Given the description of an element on the screen output the (x, y) to click on. 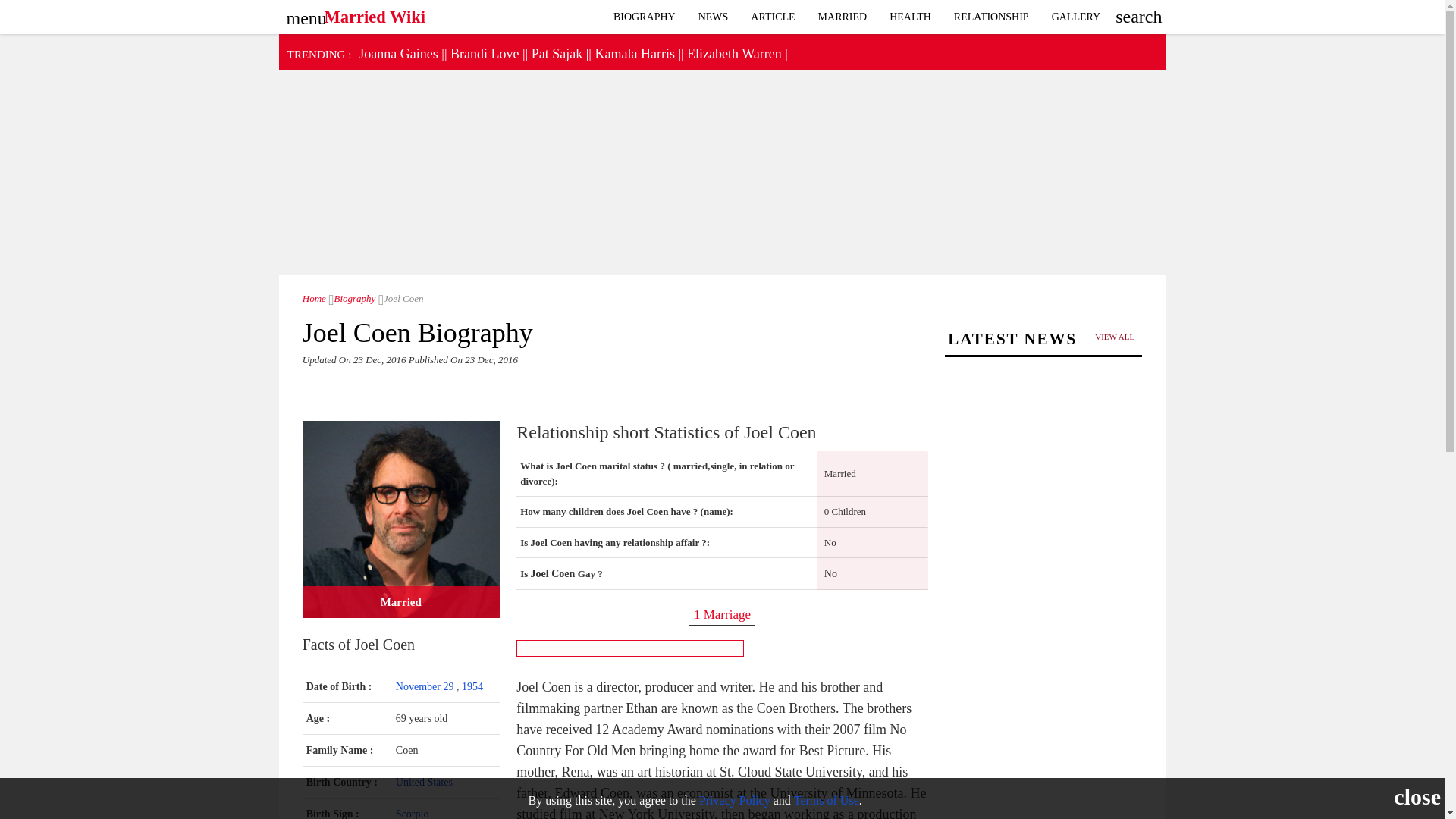
Lifestyle (909, 17)
NEWS (713, 17)
November 29 (426, 686)
Article (772, 17)
Scorpio (412, 813)
VIEW ALL (1114, 336)
Joanna Gaines (398, 53)
Home (314, 297)
GALLERY (1076, 17)
Biography (644, 17)
